Given the description of an element on the screen output the (x, y) to click on. 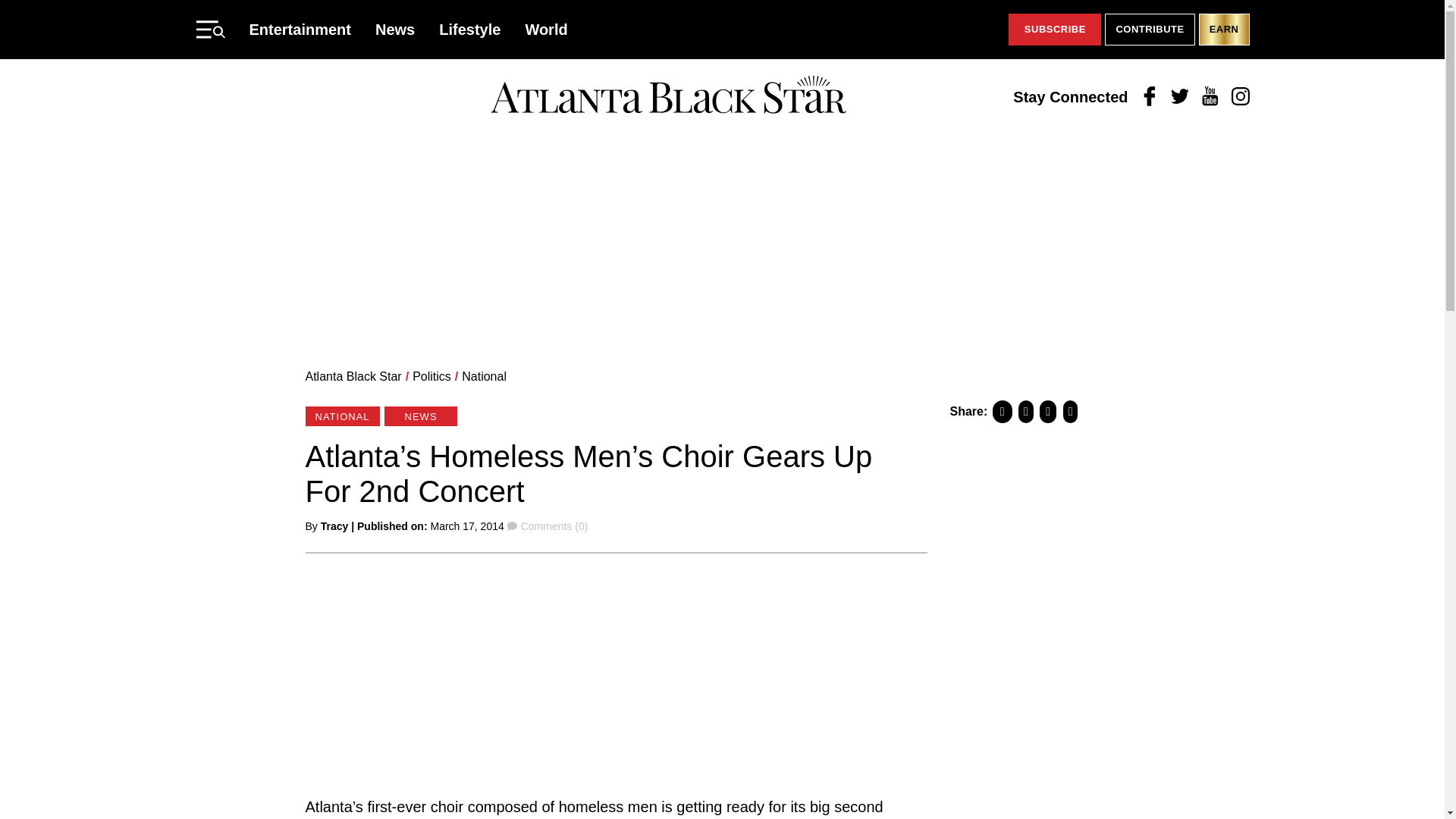
News (394, 29)
EARN (1223, 29)
Go to the Politics Category archives. (431, 376)
Entertainment (299, 29)
Go to the National Category archives. (483, 376)
Politics (431, 376)
Atlanta Black Star (667, 96)
CONTRIBUTE (1149, 29)
World (545, 29)
Atlanta Black Star (352, 376)
